Given the description of an element on the screen output the (x, y) to click on. 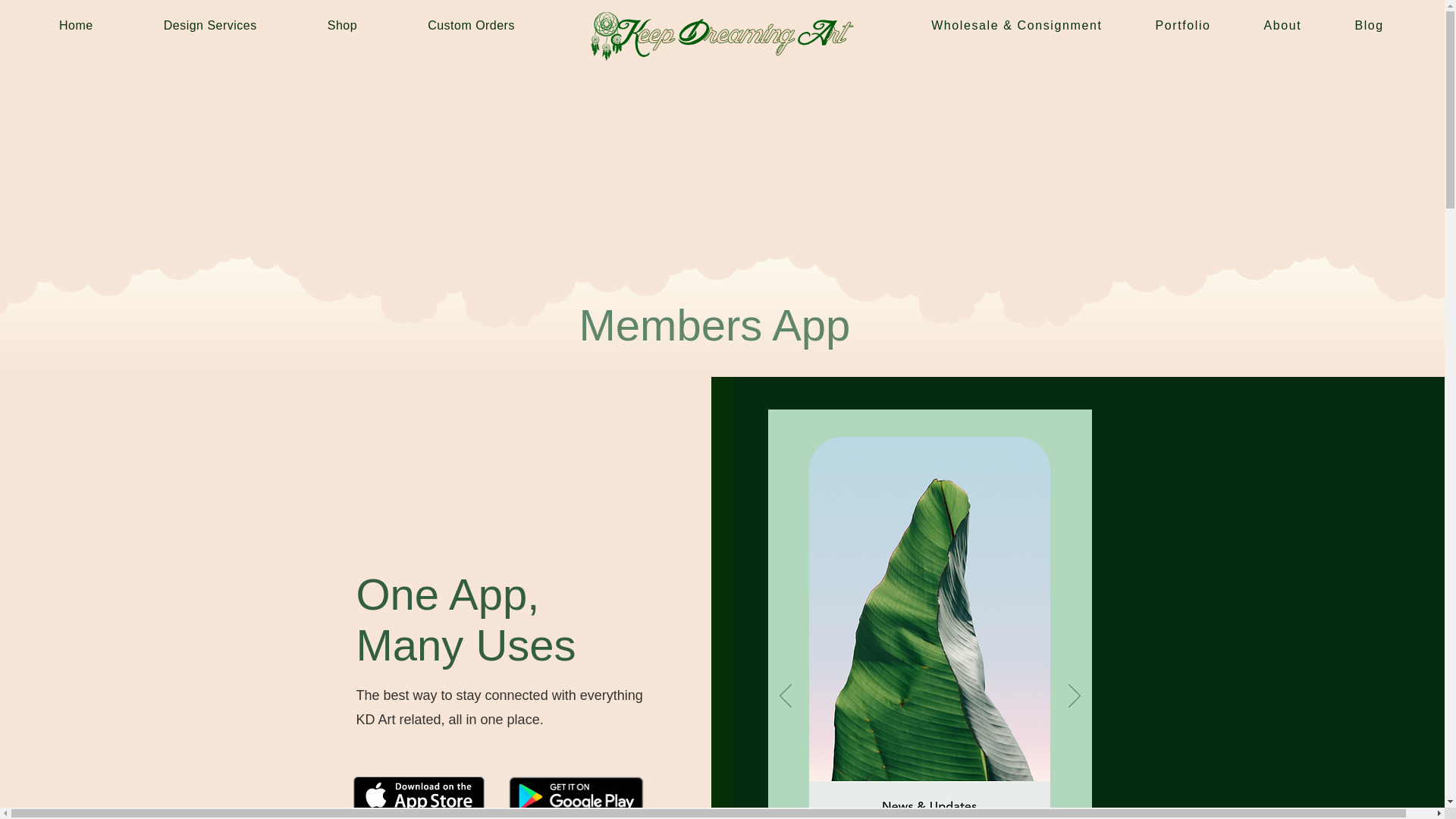
Home (75, 25)
Blog (1368, 25)
Portfolio (1182, 25)
